Given the description of an element on the screen output the (x, y) to click on. 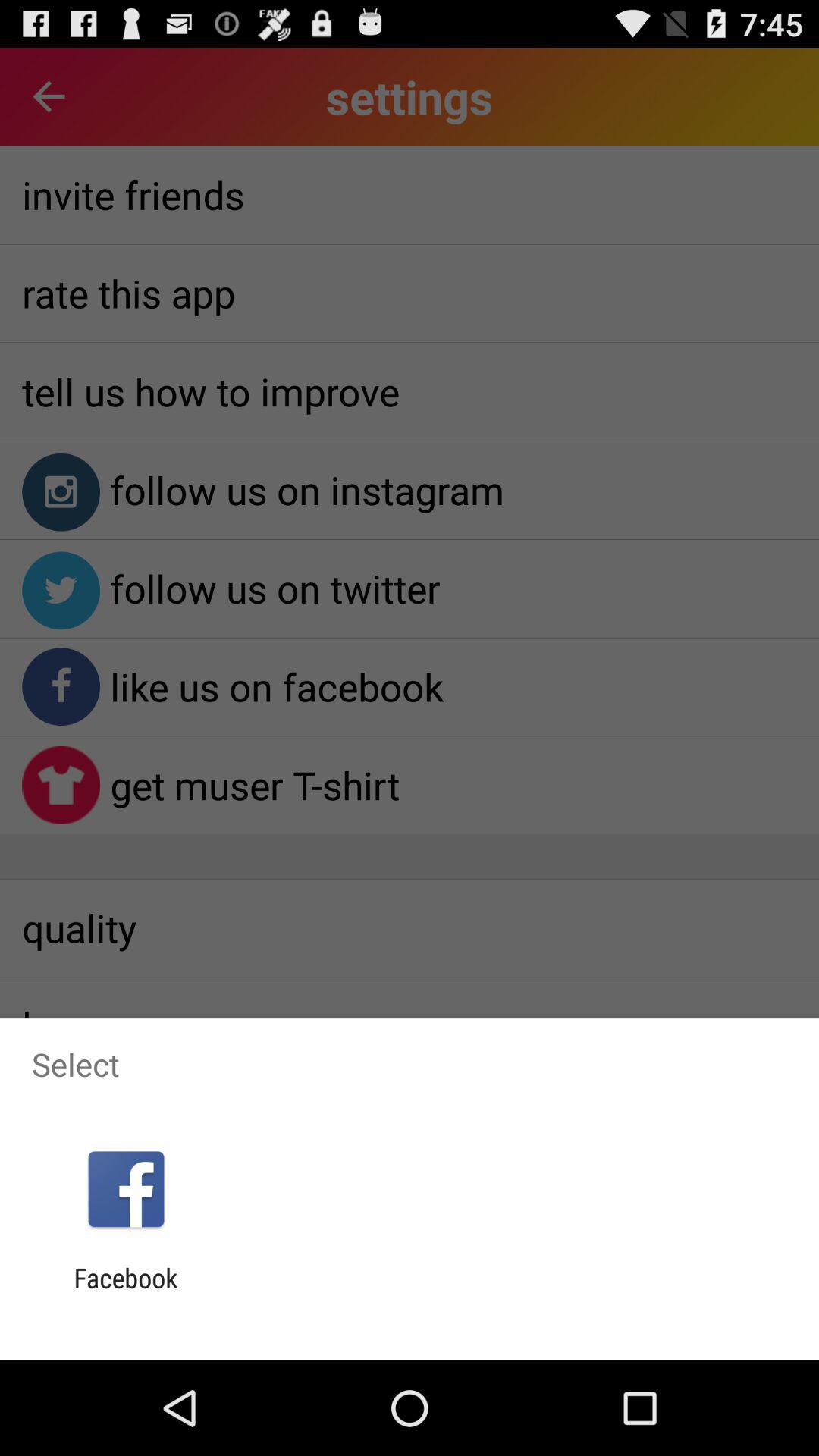
choose facebook icon (125, 1293)
